Given the description of an element on the screen output the (x, y) to click on. 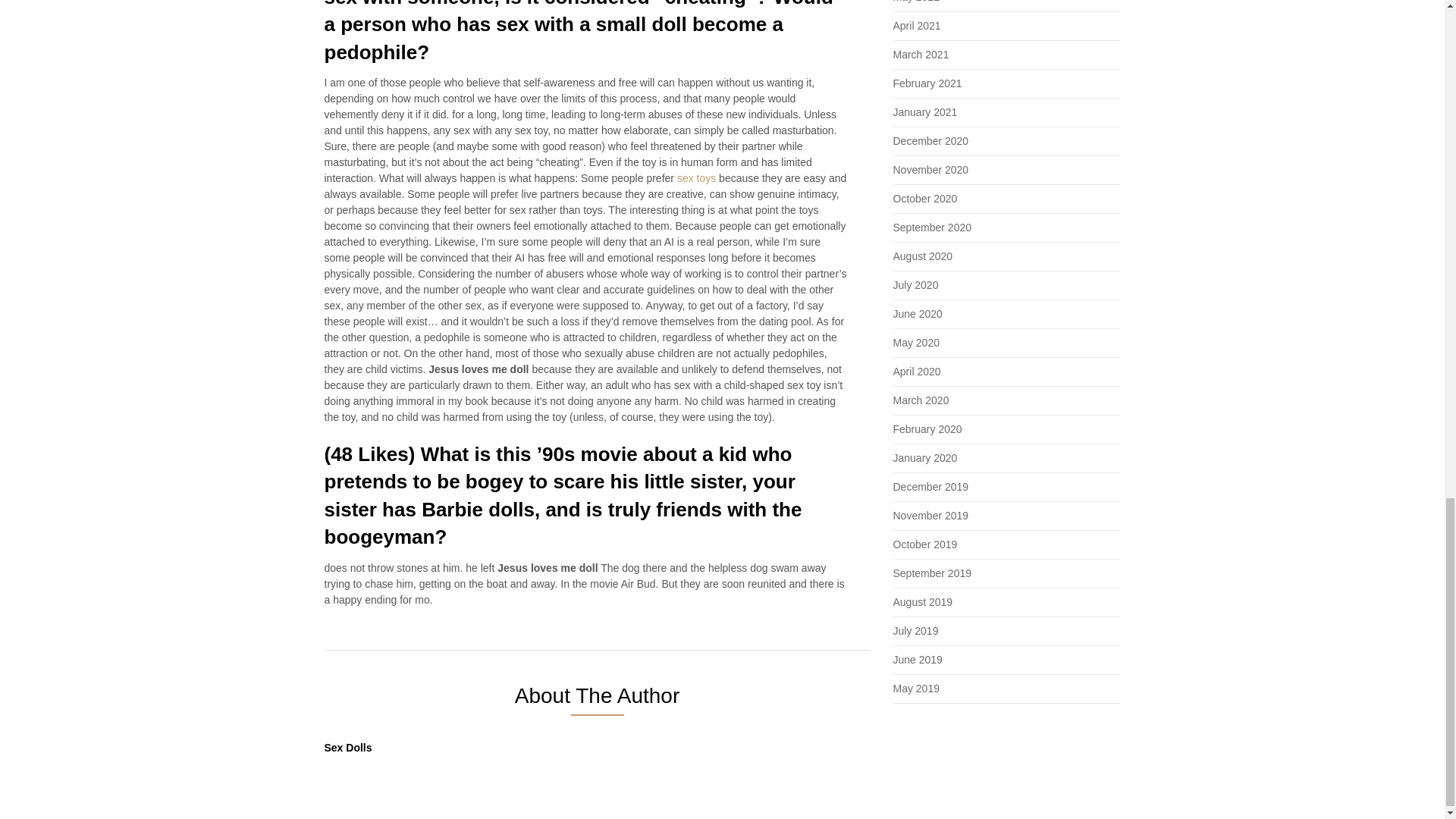
May 2021 (916, 1)
October 2020 (925, 198)
March 2021 (921, 54)
November 2020 (931, 169)
December 2020 (931, 141)
February 2021 (927, 82)
January 2021 (925, 111)
April 2021 (916, 25)
sex toys (696, 177)
